Given the description of an element on the screen output the (x, y) to click on. 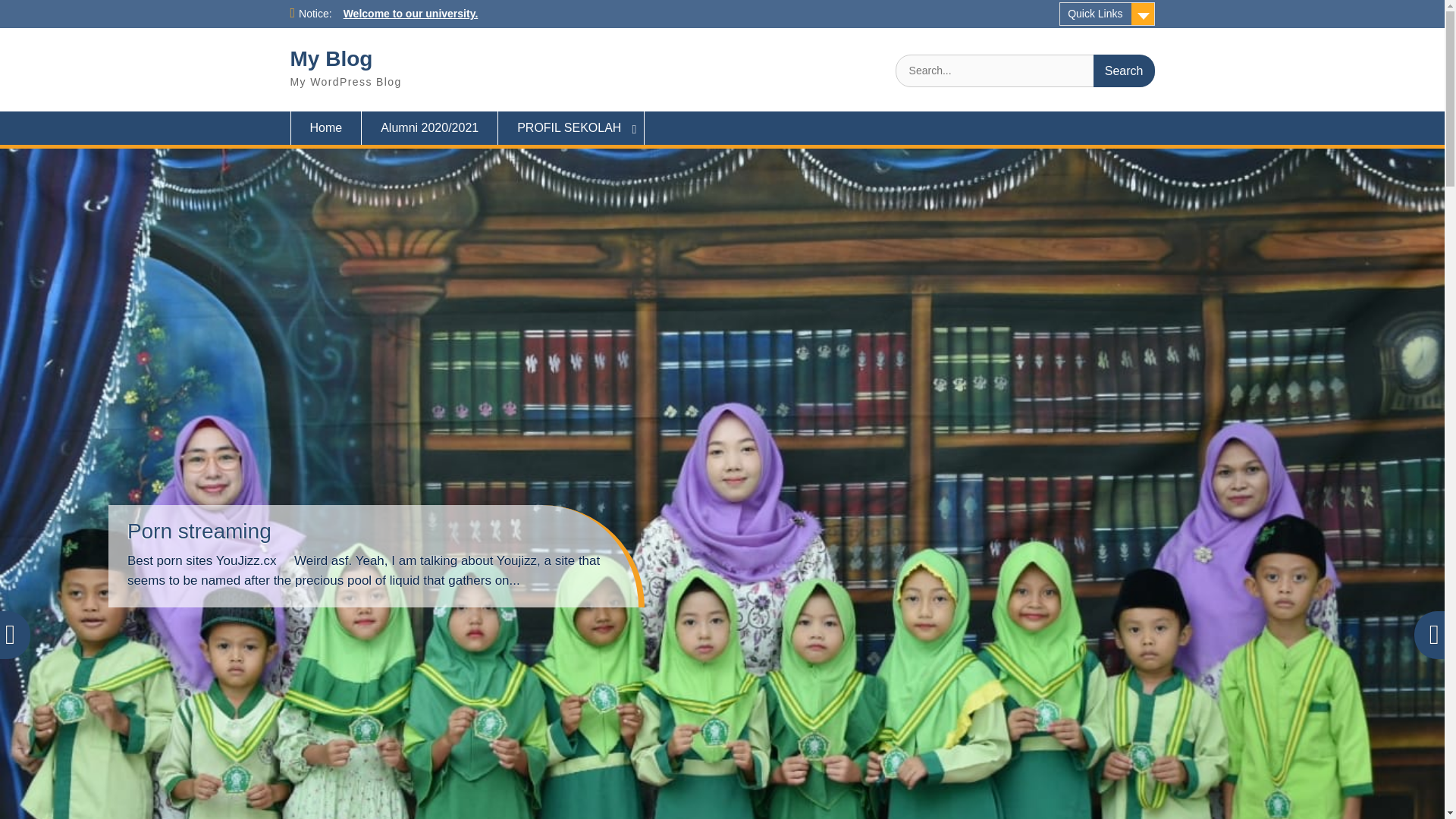
Quick Links (1106, 13)
Search for: (1024, 70)
Home (325, 127)
Search (1123, 70)
PROFIL SEKOLAH (571, 127)
Welcome to our university. (411, 13)
Porn streaming (199, 530)
Search (1123, 70)
Search (1123, 70)
My Blog (330, 58)
